Given the description of an element on the screen output the (x, y) to click on. 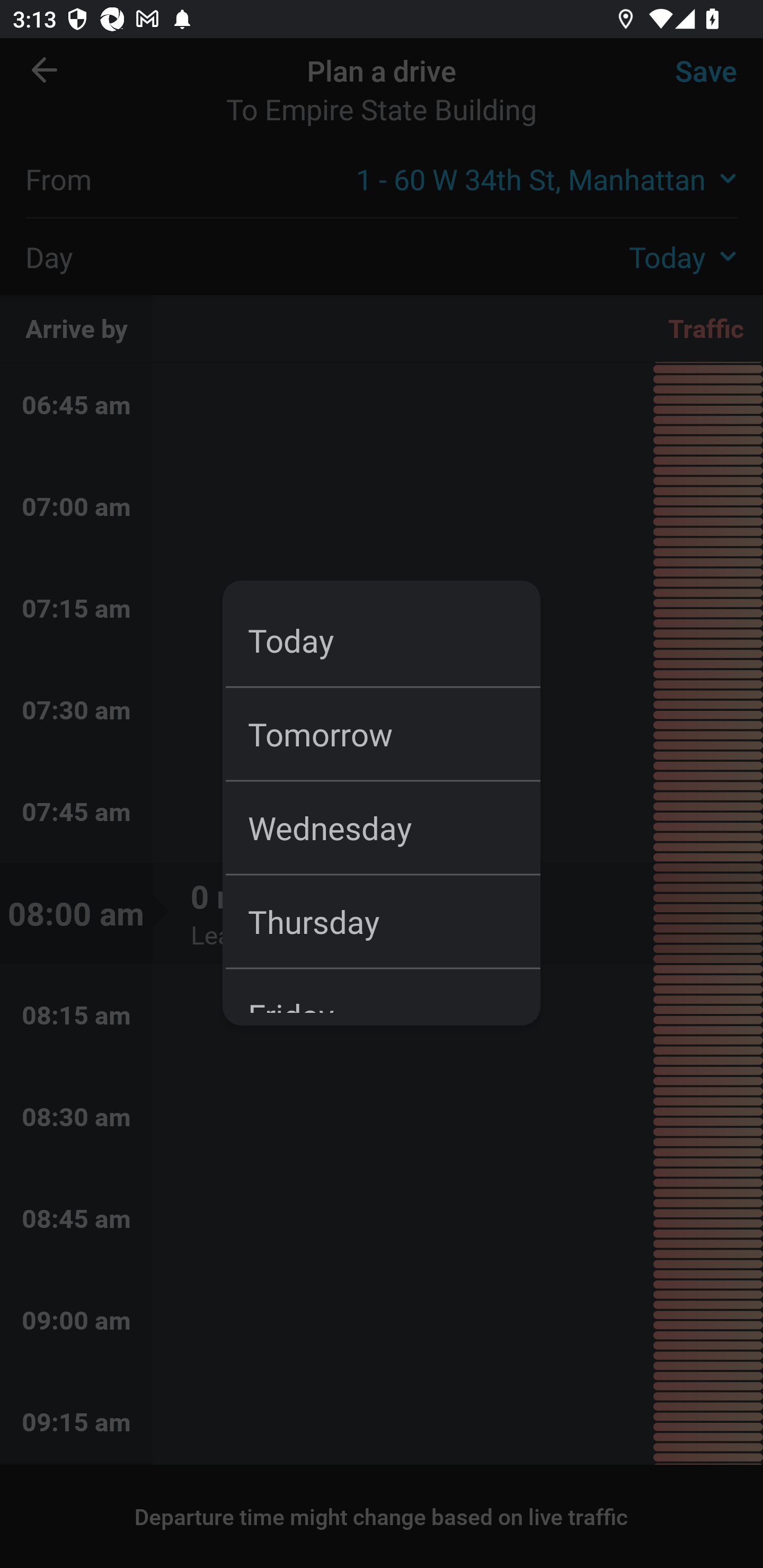
Today (393, 640)
Tomorrow (393, 733)
Wednesday (393, 827)
Thursday (393, 921)
